Given the description of an element on the screen output the (x, y) to click on. 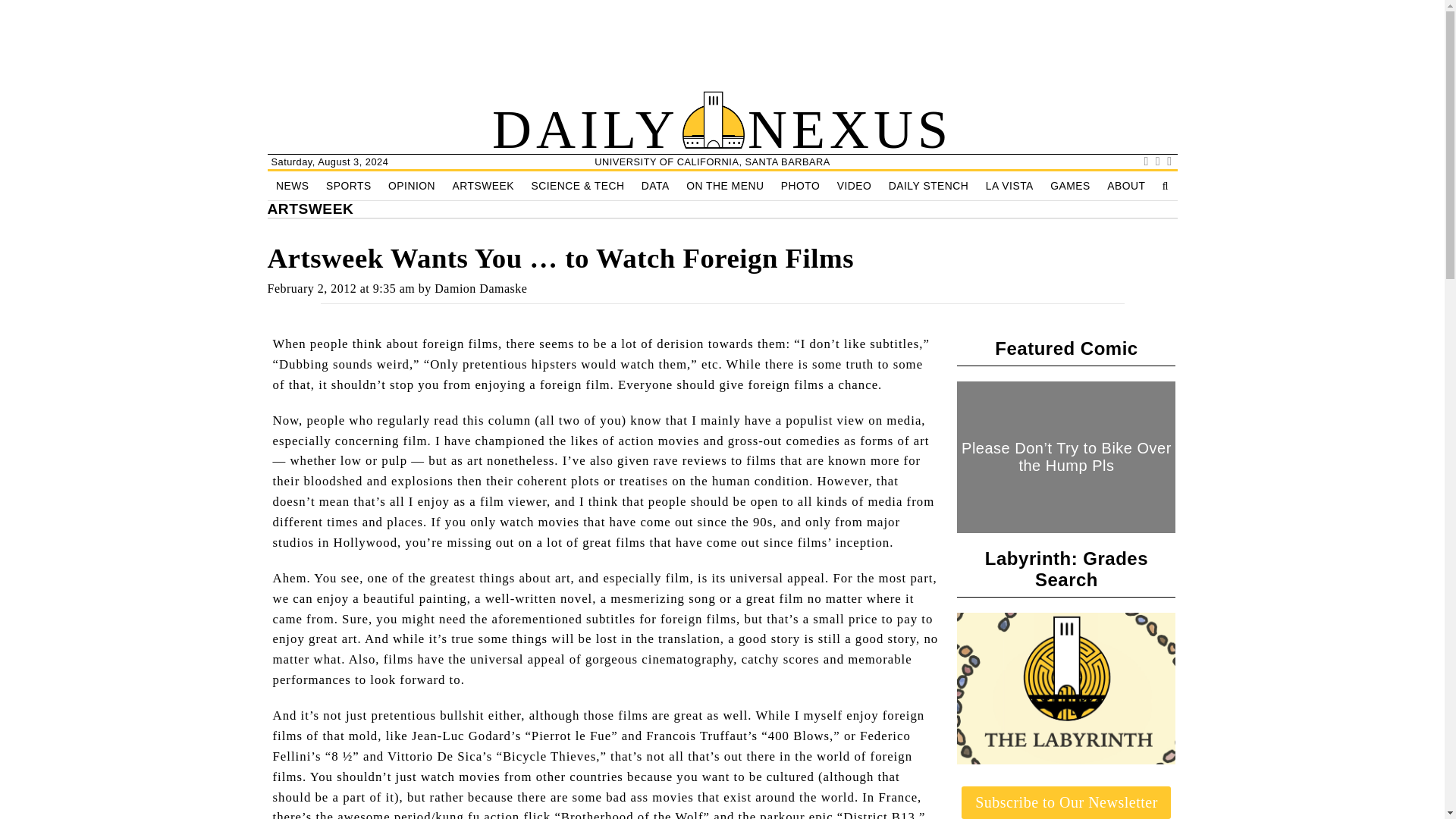
Posts by Damion Damaske (480, 287)
